Given the description of an element on the screen output the (x, y) to click on. 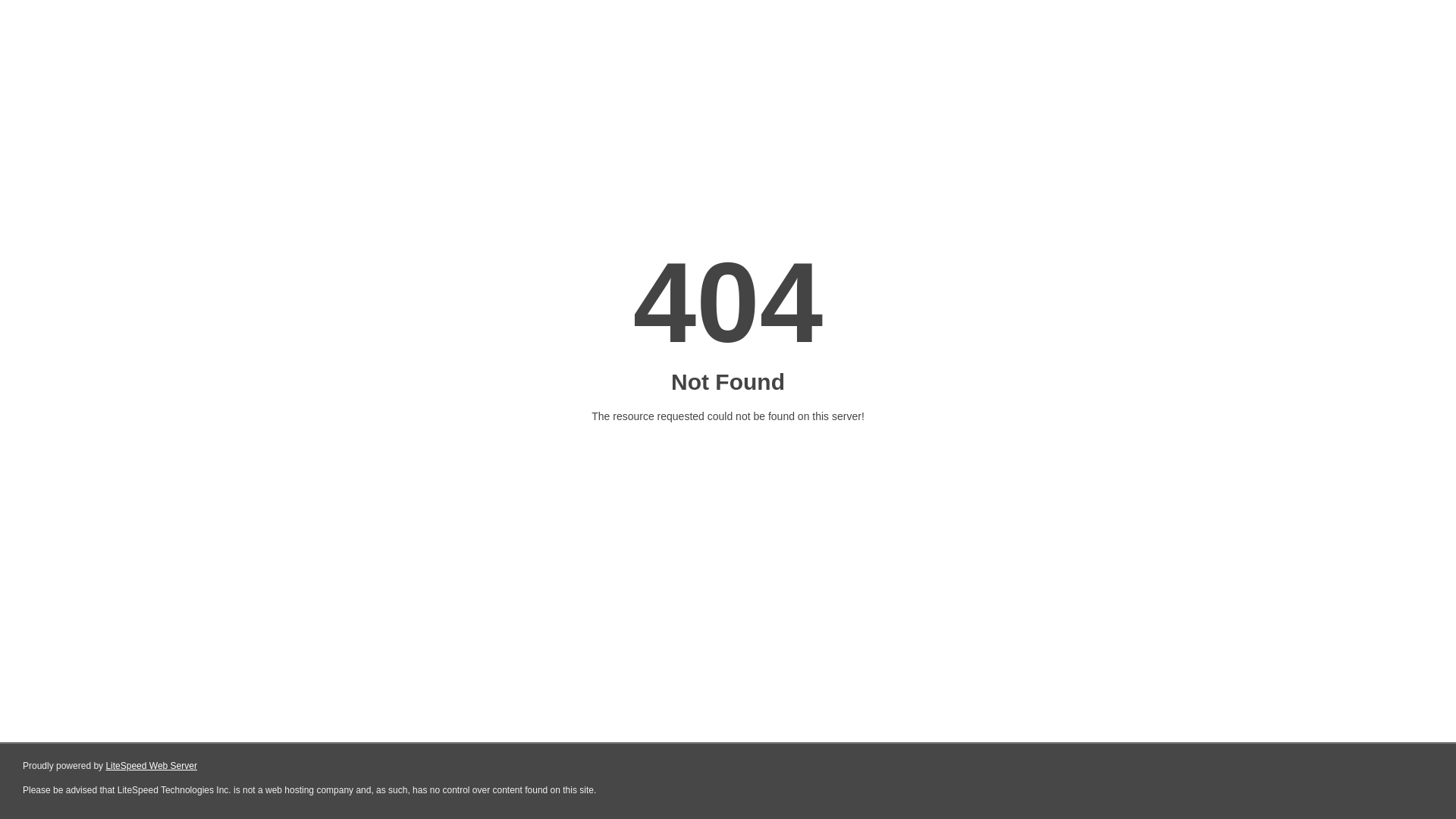
LiteSpeed Web Server Element type: text (151, 765)
